Given the description of an element on the screen output the (x, y) to click on. 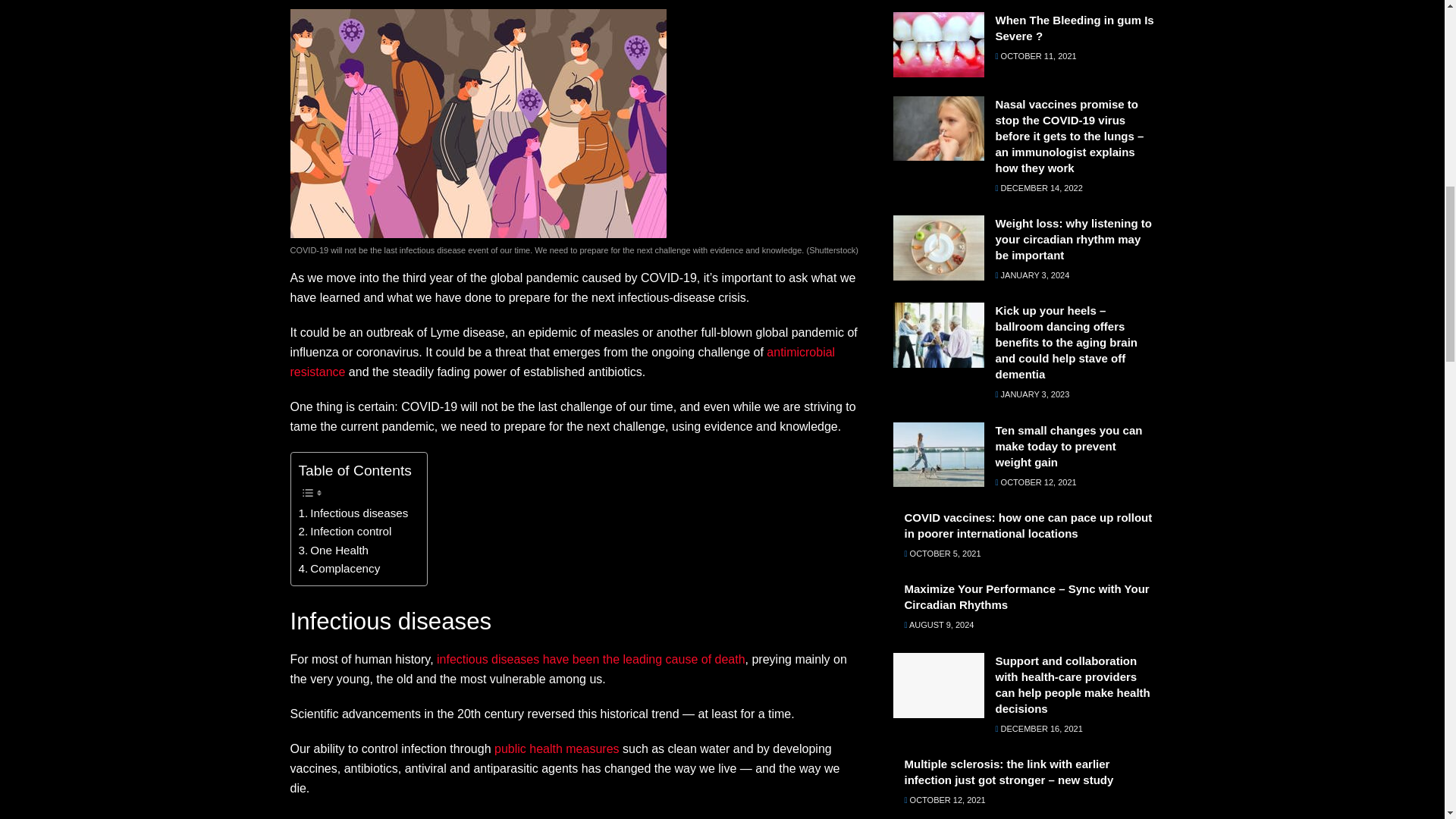
Infectious diseases (353, 513)
public health measures (557, 748)
One Health (333, 550)
Infection control (344, 531)
Infectious diseases (353, 513)
Infection control (344, 531)
infectious diseases have been the leading cause of death (590, 658)
Complacency (339, 568)
Complacency (339, 568)
antimicrobial resistance (561, 361)
